Given the description of an element on the screen output the (x, y) to click on. 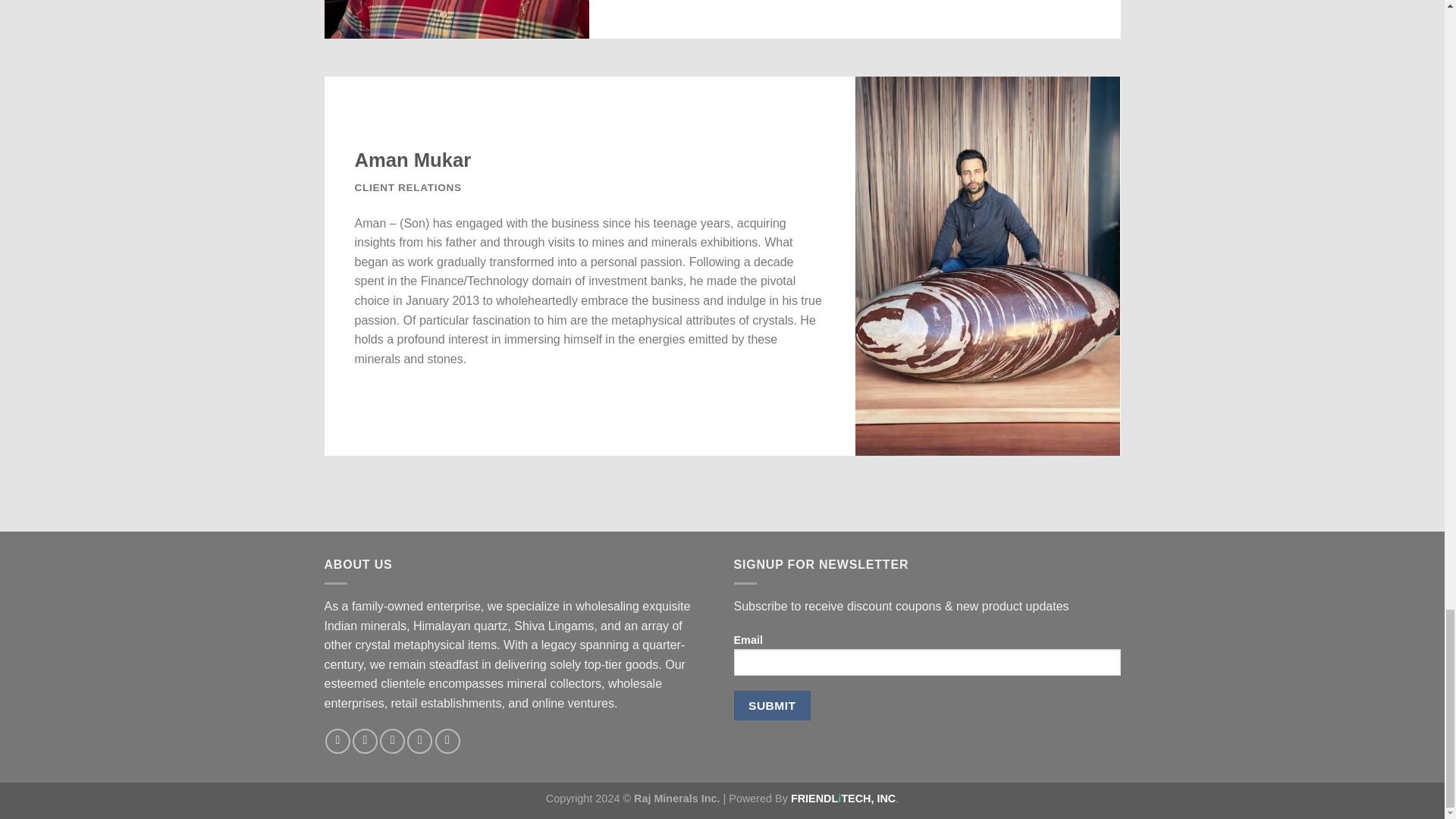
Submit (771, 705)
Submit (771, 705)
Follow on Twitter (392, 740)
Send us an email (419, 740)
Follow on Instagram (364, 740)
Follow on Facebook (337, 740)
Follow on Pinterest (447, 740)
FRIENDLiTECH, INC (842, 798)
